Given the description of an element on the screen output the (x, y) to click on. 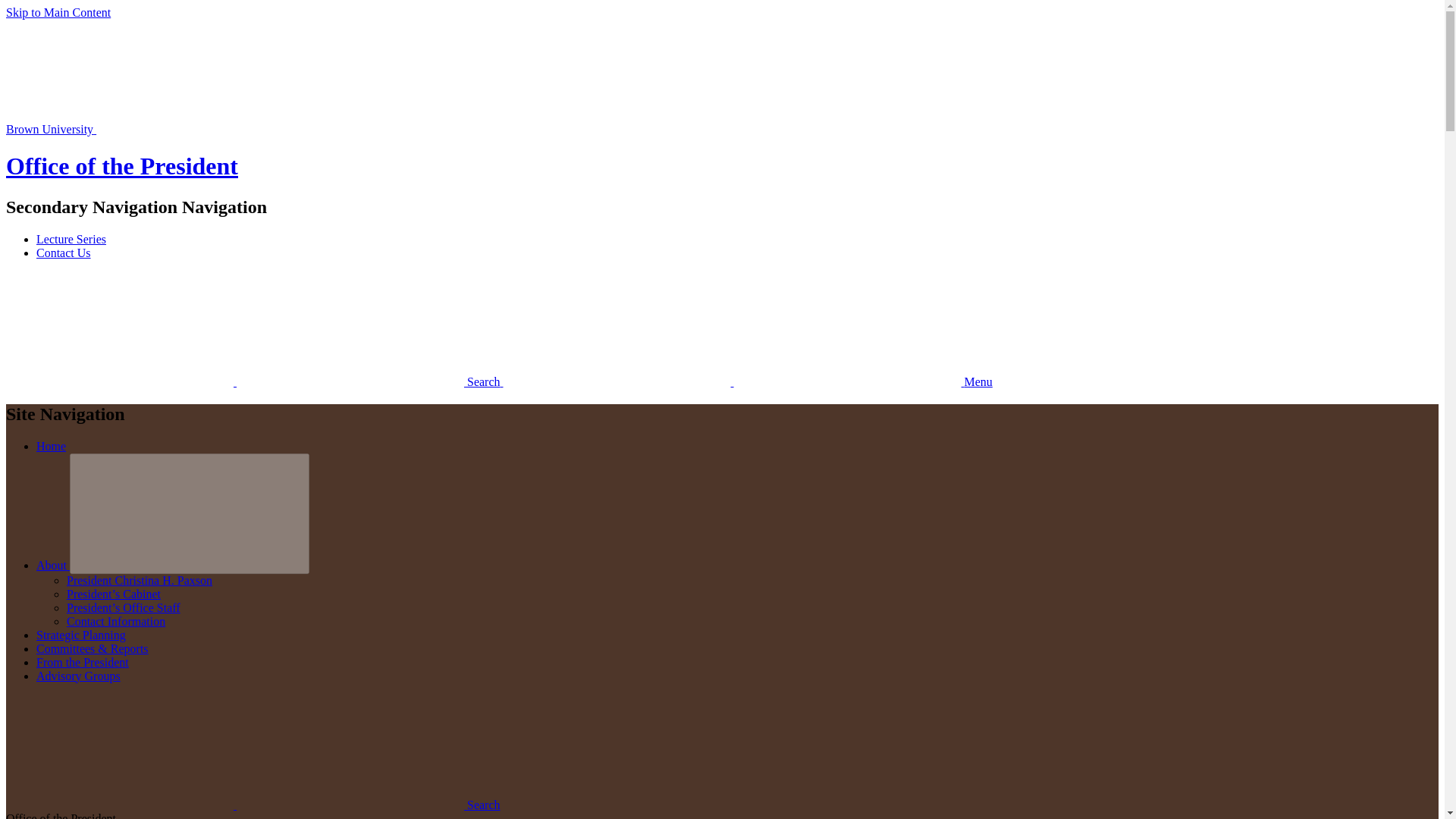
About (52, 564)
Search (254, 381)
Advisory Groups (78, 675)
Menu (747, 381)
Strategic Planning (80, 634)
Office of the President (121, 165)
Contact Us (63, 252)
Contact Information (115, 621)
Skip to Main Content (57, 11)
Home (50, 445)
